Given the description of an element on the screen output the (x, y) to click on. 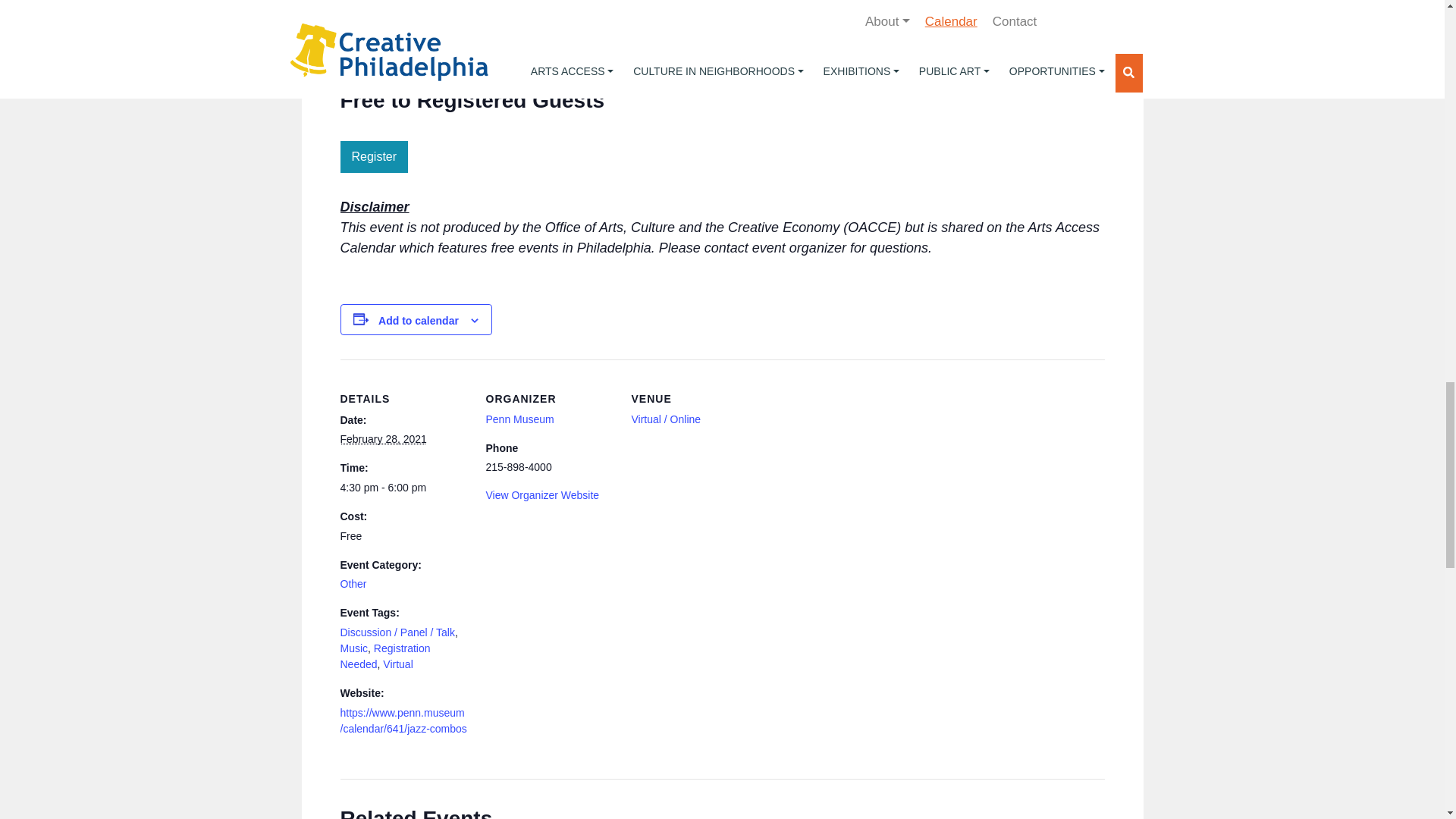
Penn Museum (518, 419)
2021-02-28 (403, 487)
2021-02-28 (382, 439)
